Given the description of an element on the screen output the (x, y) to click on. 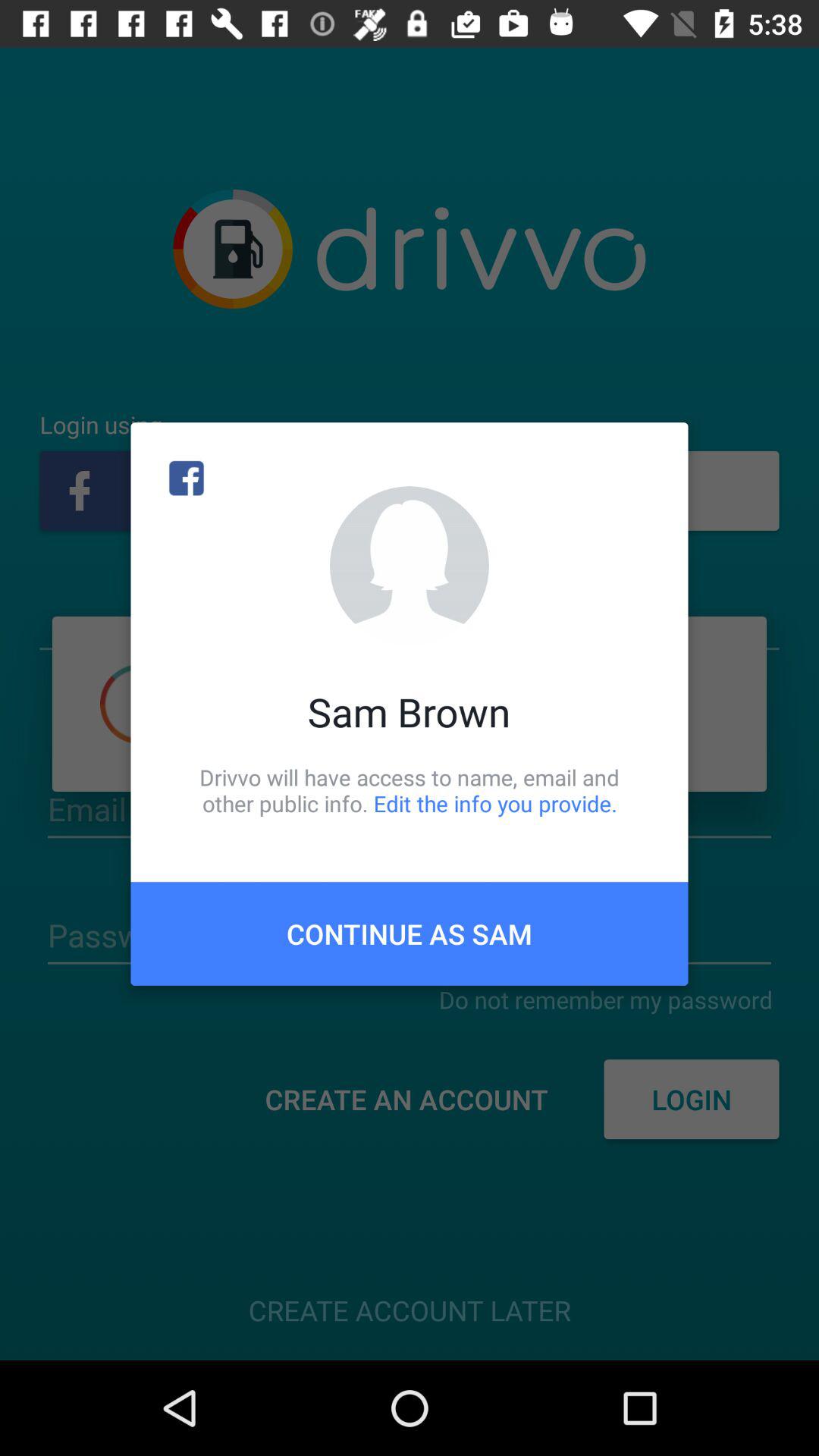
turn off icon above continue as sam item (409, 790)
